Given the description of an element on the screen output the (x, y) to click on. 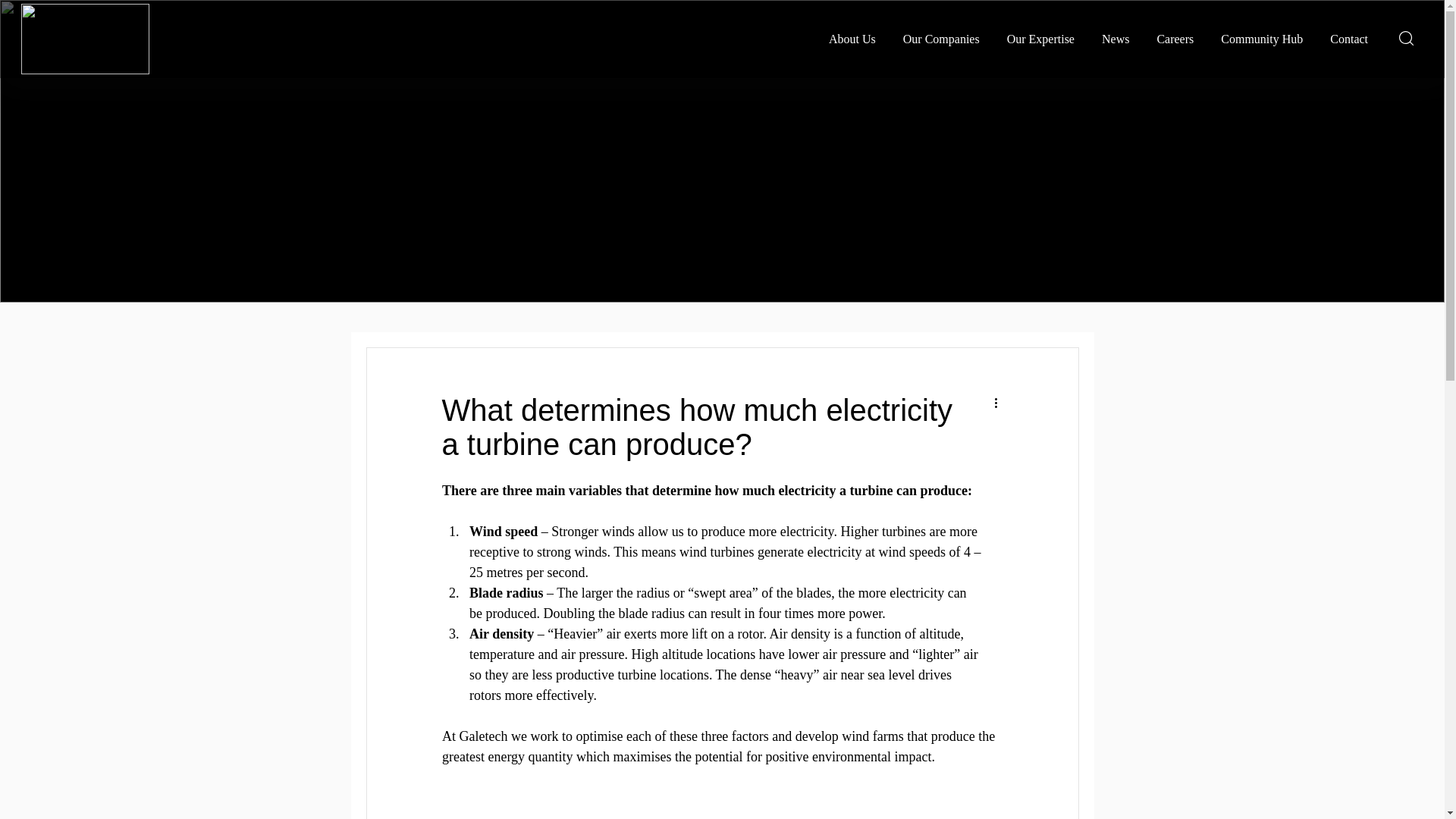
Careers (1174, 38)
Our Expertise    (1045, 38)
Contact (1349, 38)
News    (1120, 38)
About Us     (858, 38)
Community Hub  (1263, 38)
Our Companies    (945, 38)
